Given the description of an element on the screen output the (x, y) to click on. 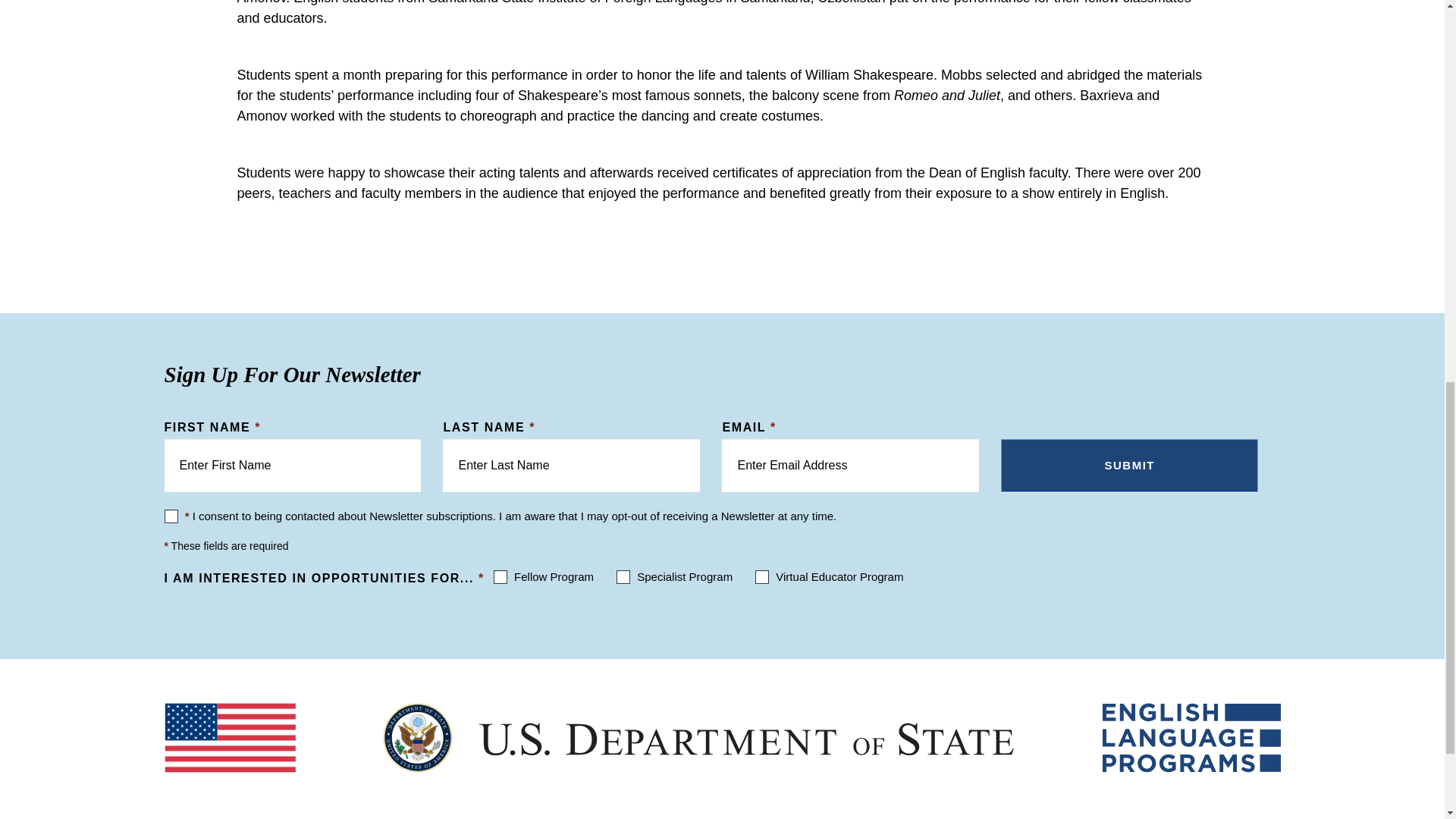
Fellow Program (499, 576)
Virtual Educator Program (761, 576)
Specialist Program (622, 576)
